Given the description of an element on the screen output the (x, y) to click on. 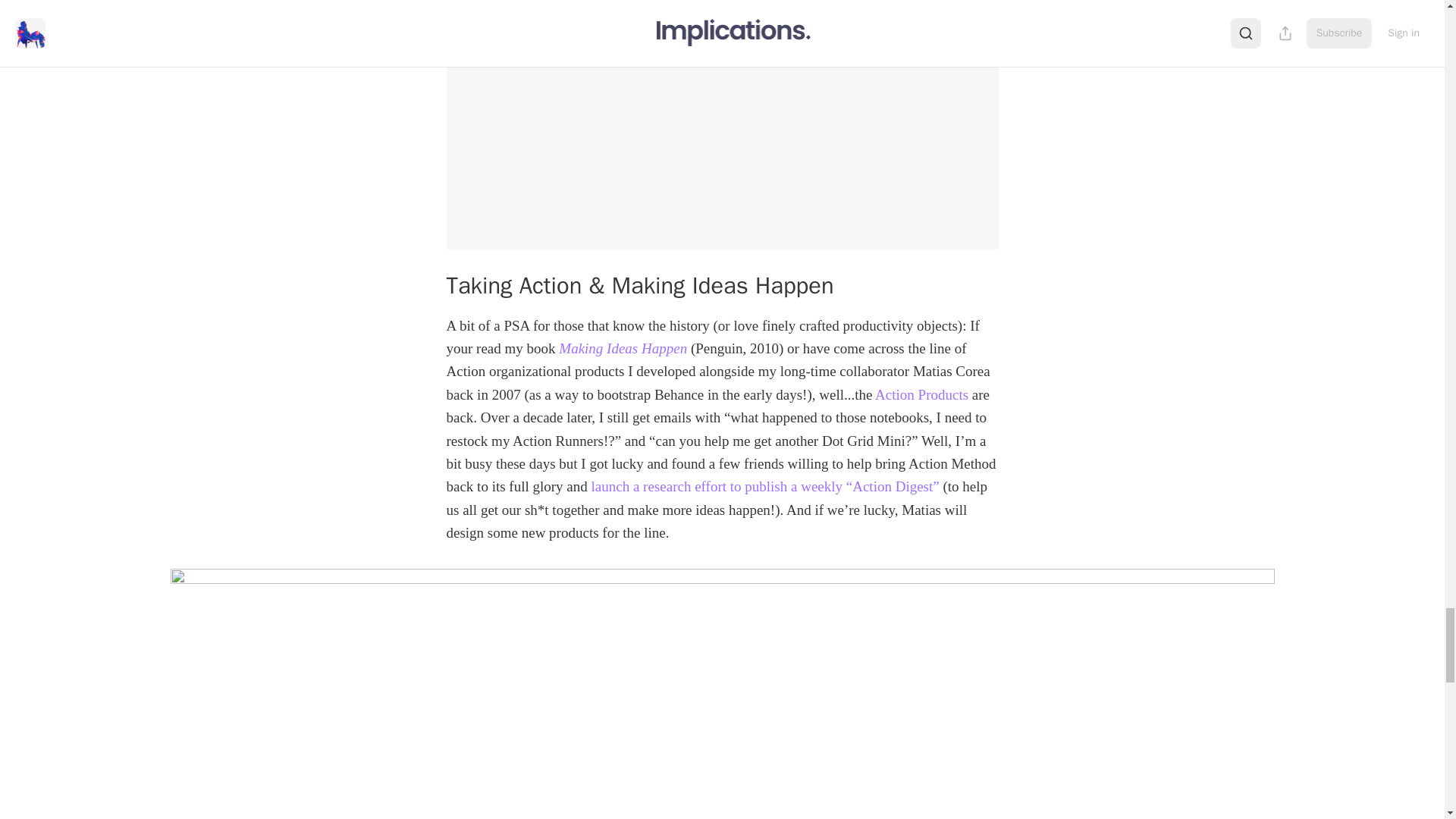
Making Ideas Happen (623, 348)
Action Products (921, 394)
